Given the description of an element on the screen output the (x, y) to click on. 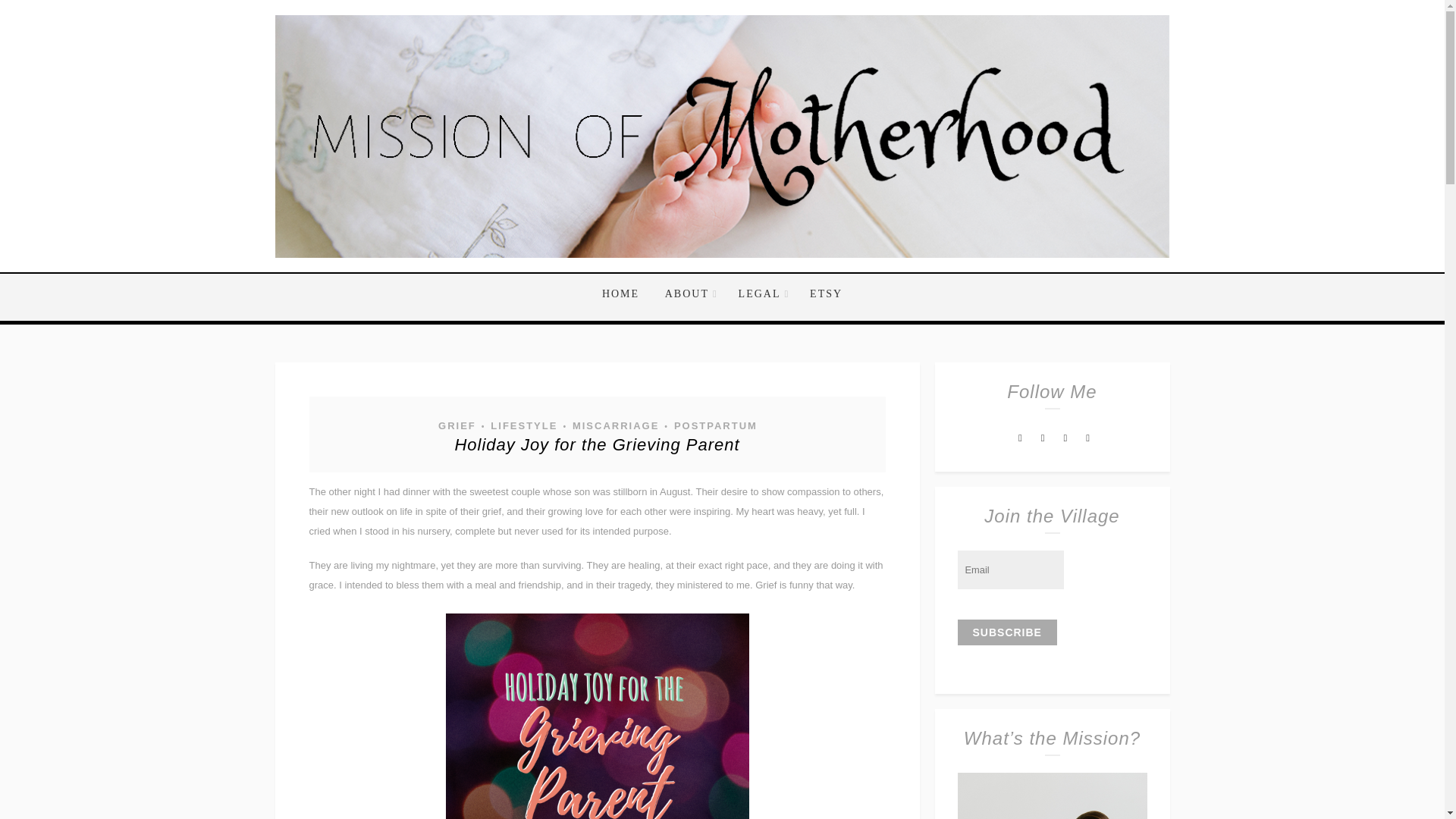
Permanent (596, 444)
POSTPARTUM (714, 425)
MISCARRIAGE (614, 425)
Subscribe (1006, 632)
ABOUT (688, 294)
HOME (626, 294)
LEGAL (761, 294)
LIFESTYLE (522, 425)
GRIEF (455, 425)
Holiday Joy for the Grieving Parent (596, 444)
ETSY (820, 294)
